Given the description of an element on the screen output the (x, y) to click on. 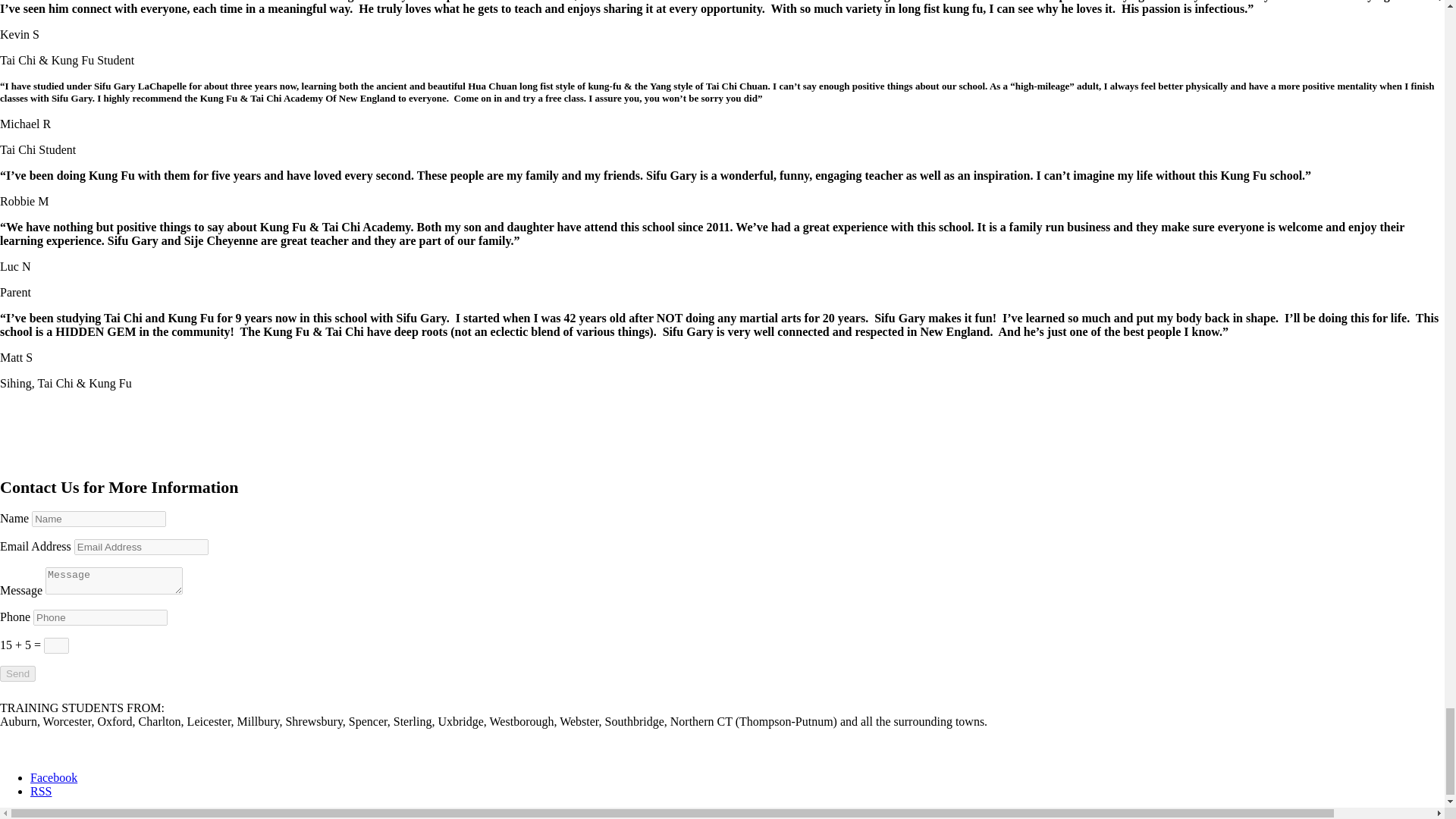
RSS (40, 790)
Facebook (53, 777)
Send (17, 673)
